Given the description of an element on the screen output the (x, y) to click on. 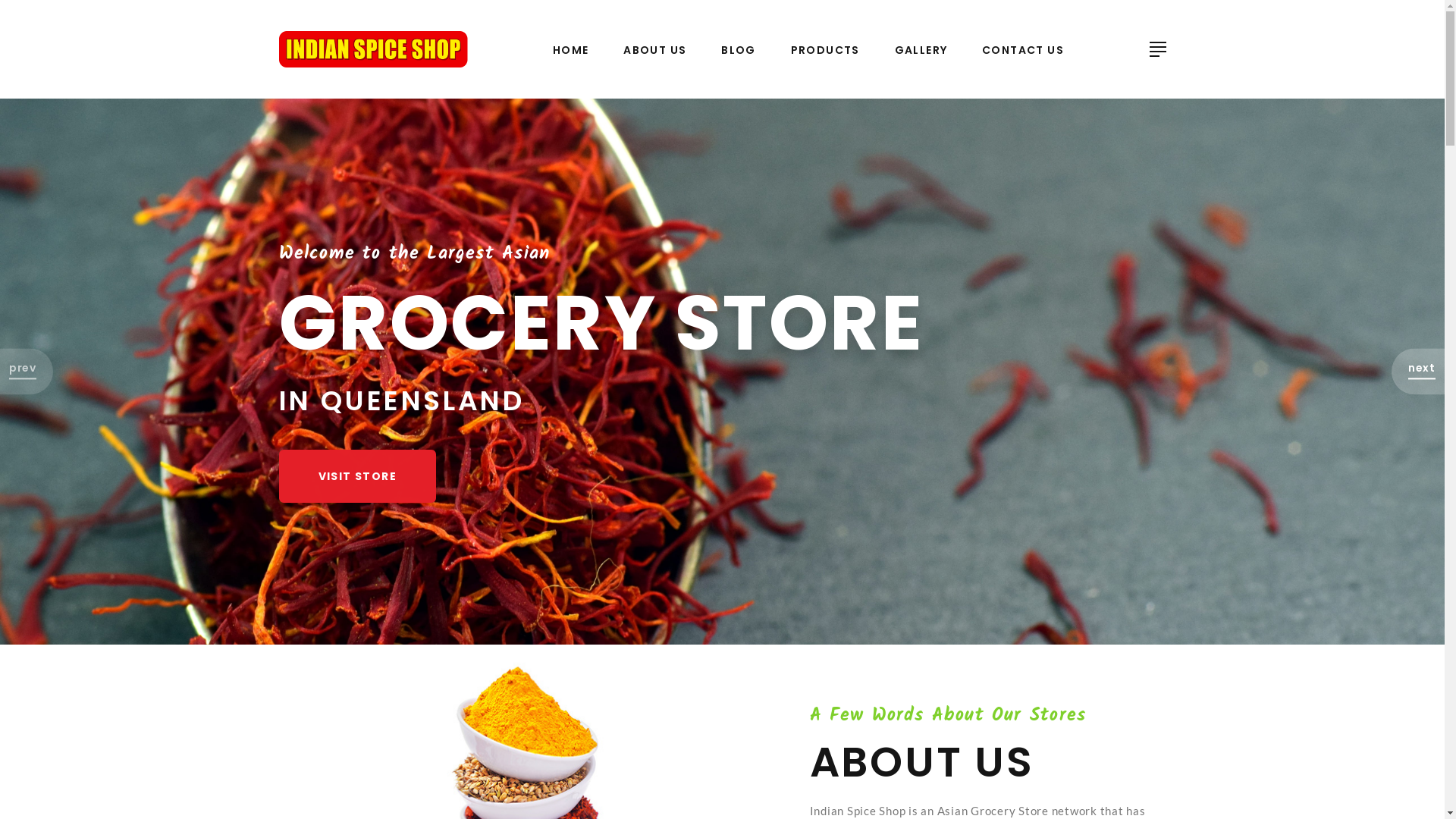
BLOG Element type: text (738, 49)
HOME Element type: text (570, 49)
ABOUT US Element type: text (654, 49)
PRODUCTS Element type: text (824, 49)
CONTACT US Element type: text (1022, 49)
GALLERY Element type: text (920, 49)
VISIT STORE Element type: text (357, 475)
